Given the description of an element on the screen output the (x, y) to click on. 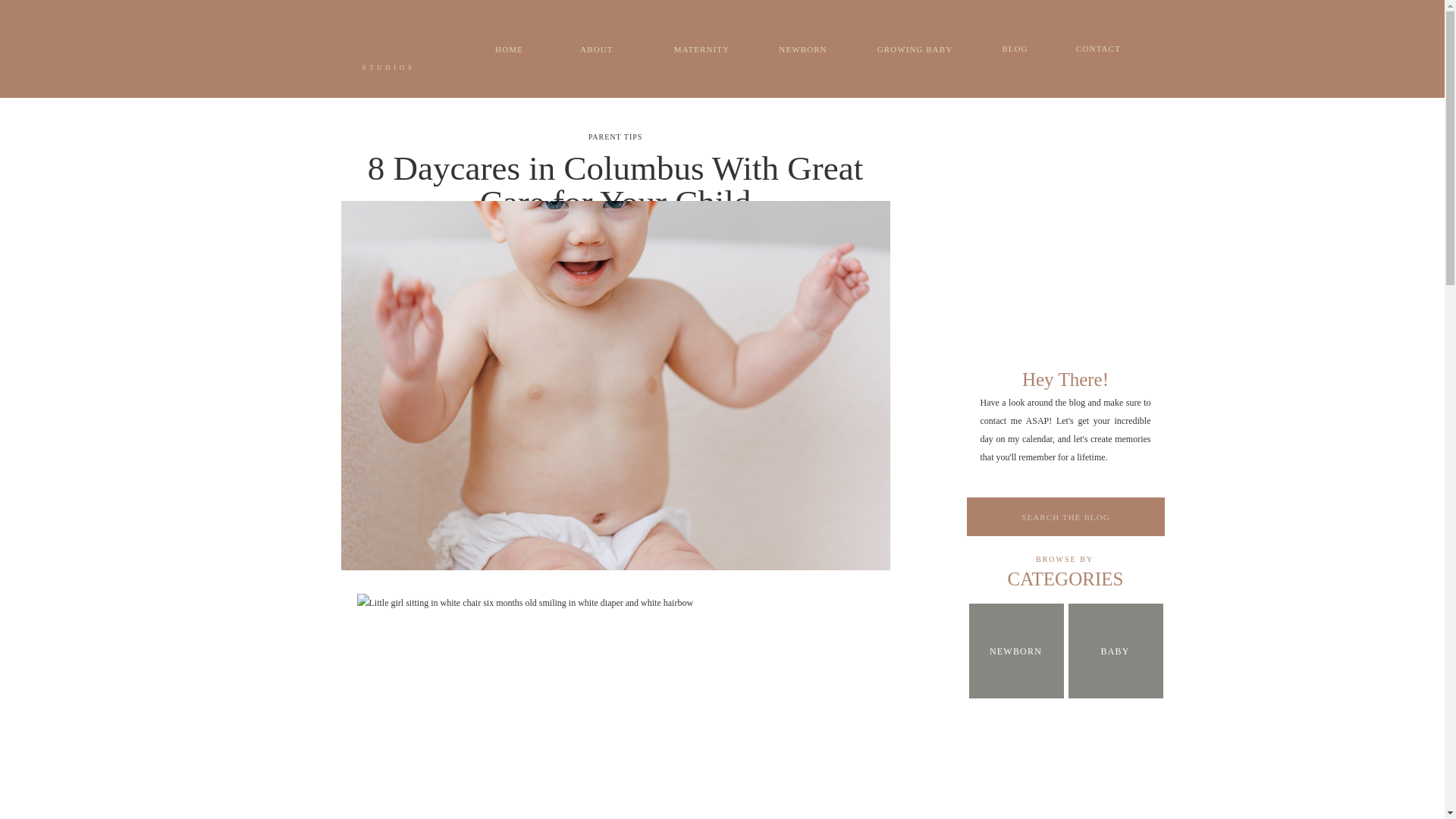
MATERNITY (701, 49)
HOME (509, 49)
GROWING BABY (914, 49)
ABOUT (596, 49)
NEWBORN (1015, 650)
CONTACT (1097, 48)
NEWBORN (802, 49)
BABY (1114, 652)
PARENT TIPS (615, 136)
BLOG (1014, 48)
